Given the description of an element on the screen output the (x, y) to click on. 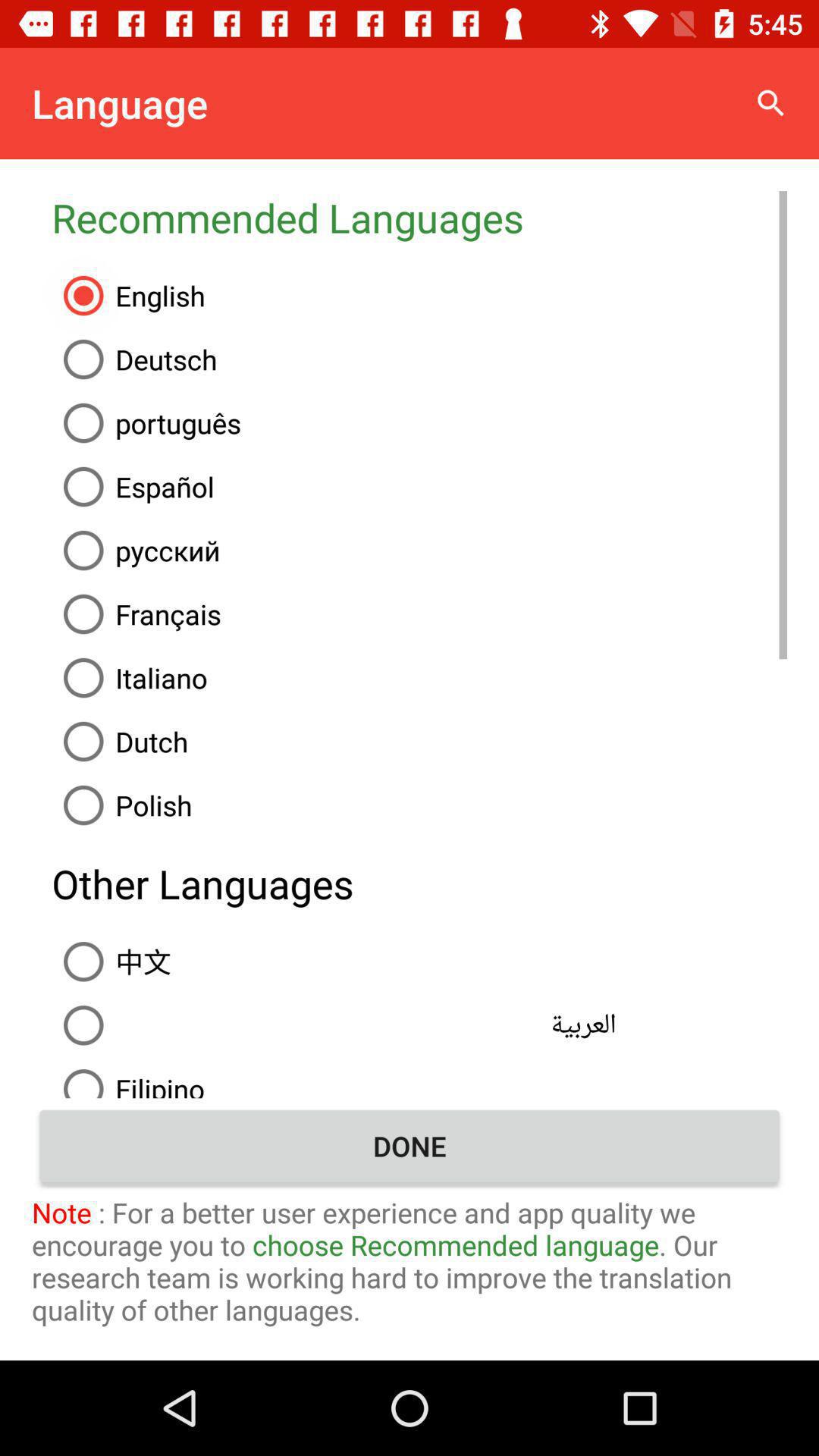
press italiano icon (419, 677)
